Given the description of an element on the screen output the (x, y) to click on. 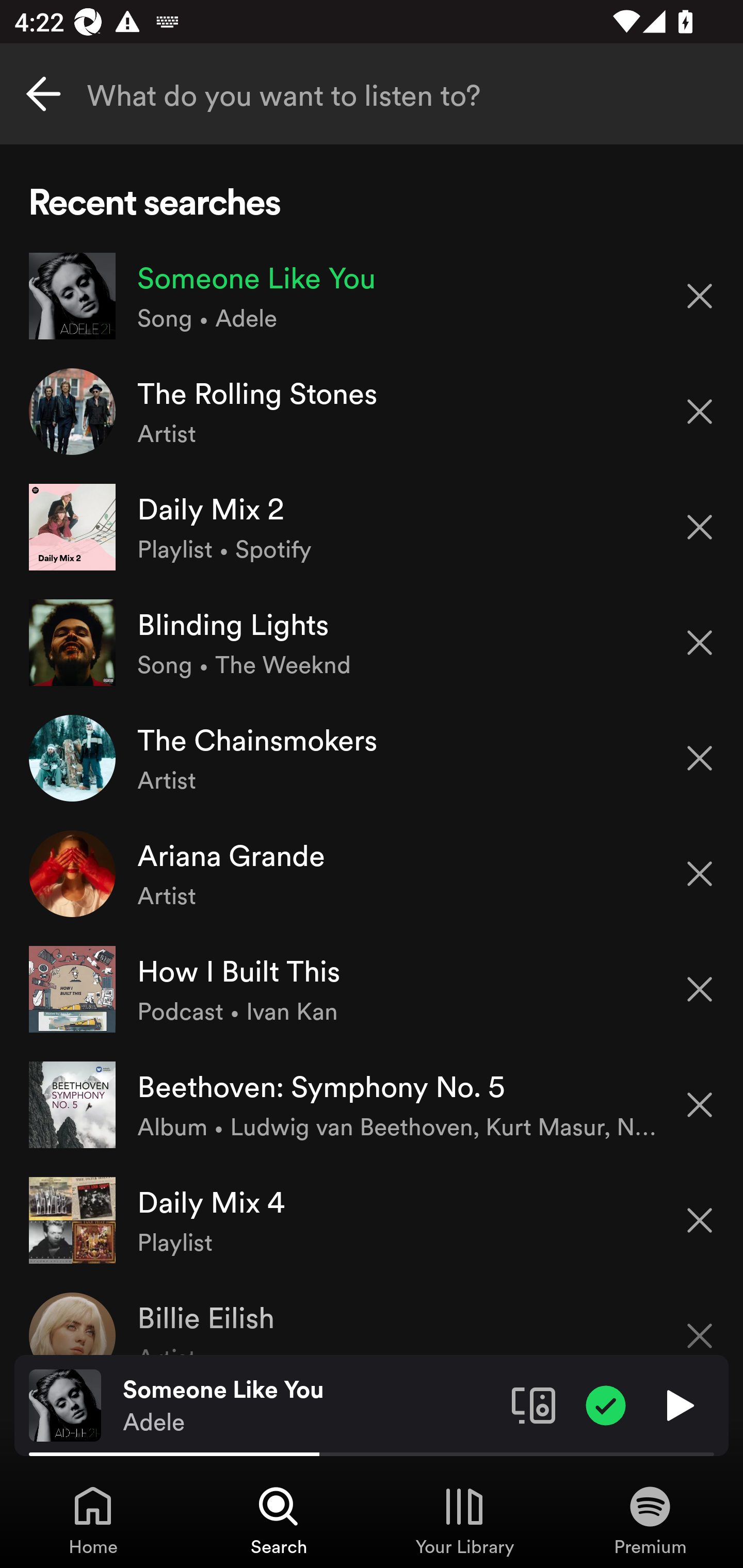
What do you want to listen to? (371, 93)
Cancel (43, 93)
Someone Like You Song • Adele Remove (371, 296)
Remove (699, 295)
The Rolling Stones Artist Remove (371, 411)
Remove (699, 411)
Daily Mix 2 Playlist • Spotify Remove (371, 526)
Remove (699, 527)
Blinding Lights Song • The Weeknd Remove (371, 642)
Remove (699, 642)
The Chainsmokers Artist Remove (371, 757)
Remove (699, 758)
Ariana Grande Artist Remove (371, 873)
Remove (699, 874)
How I Built This Podcast • Ivan Kan Remove (371, 989)
Remove (699, 989)
Remove (699, 1104)
Daily Mix 4 Playlist Remove (371, 1219)
Remove (699, 1220)
Billie Eilish Artist Remove (371, 1315)
Remove (699, 1323)
Someone Like You Adele (309, 1405)
The cover art of the currently playing track (64, 1404)
Connect to a device. Opens the devices menu (533, 1404)
Item added (605, 1404)
Play (677, 1404)
Home, Tab 1 of 4 Home Home (92, 1519)
Search, Tab 2 of 4 Search Search (278, 1519)
Your Library, Tab 3 of 4 Your Library Your Library (464, 1519)
Premium, Tab 4 of 4 Premium Premium (650, 1519)
